Given the description of an element on the screen output the (x, y) to click on. 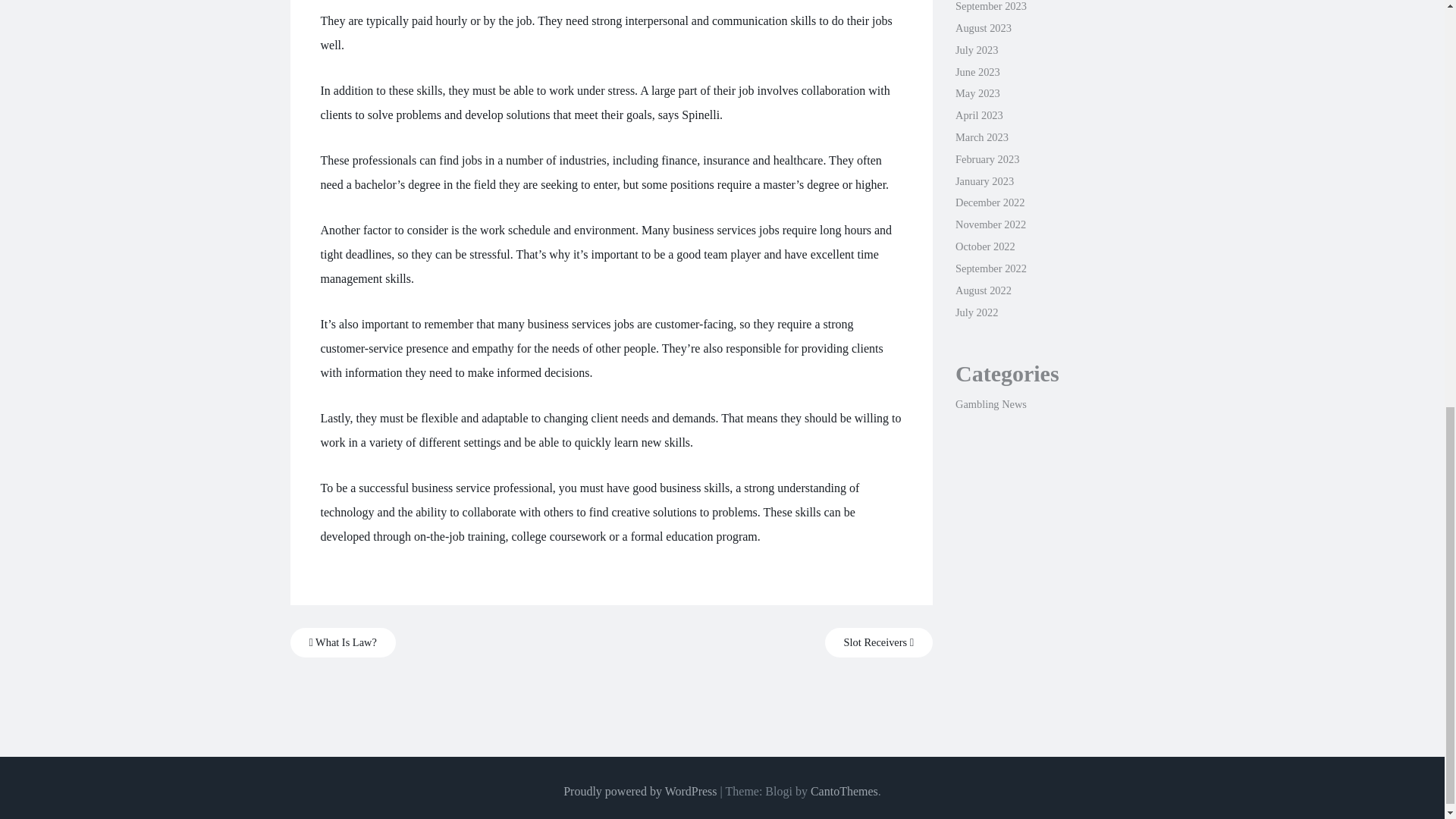
February 2023 (987, 159)
January 2023 (984, 181)
What Is Law? (341, 642)
July 2022 (976, 312)
October 2022 (984, 246)
August 2023 (983, 28)
November 2022 (990, 224)
September 2023 (990, 6)
May 2023 (977, 92)
March 2023 (982, 137)
